Given the description of an element on the screen output the (x, y) to click on. 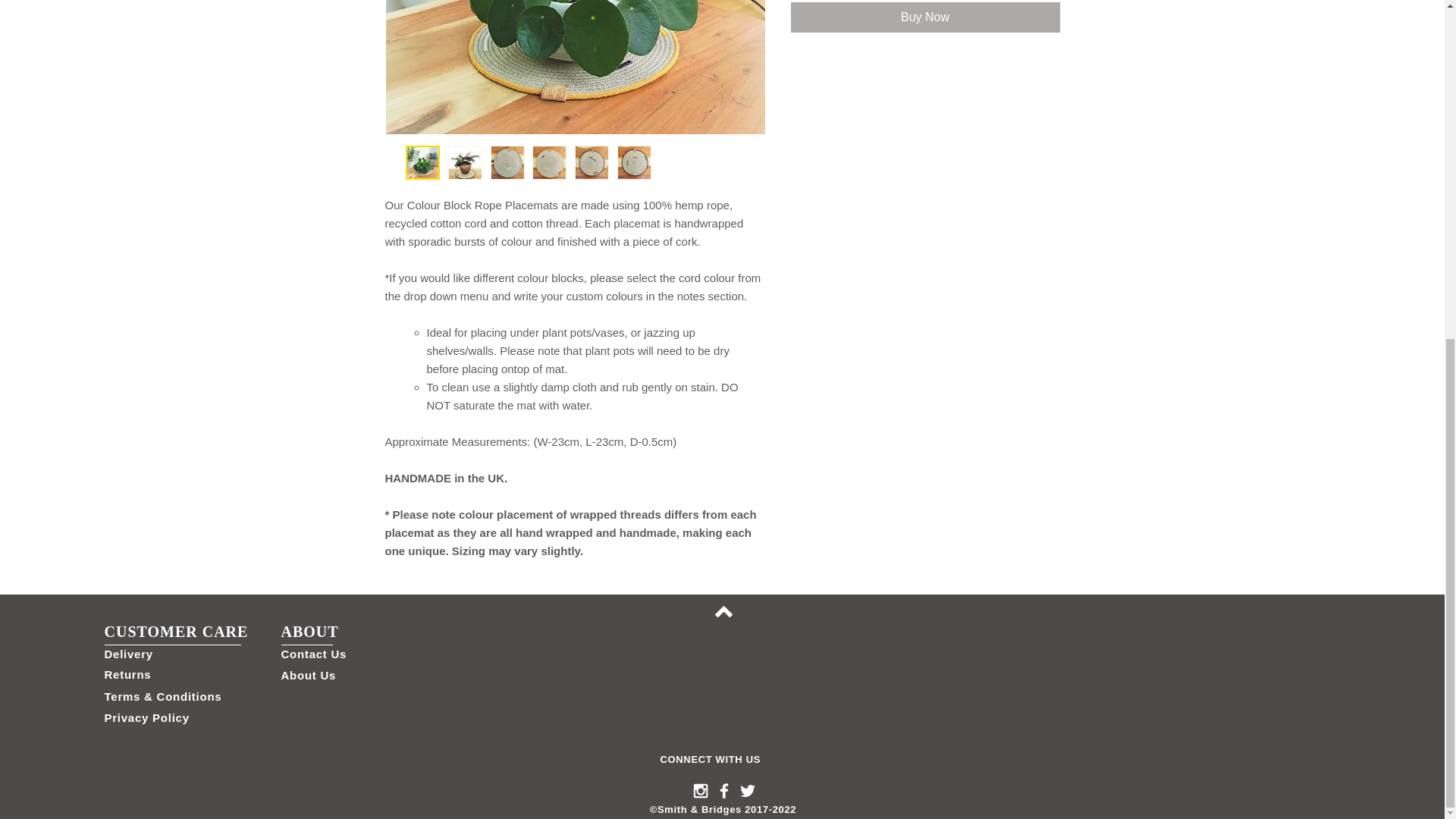
Privacy Policy (146, 717)
About Us (308, 675)
Contact Us (313, 654)
Returns (127, 674)
Buy Now (924, 17)
Delivery (128, 653)
